Given the description of an element on the screen output the (x, y) to click on. 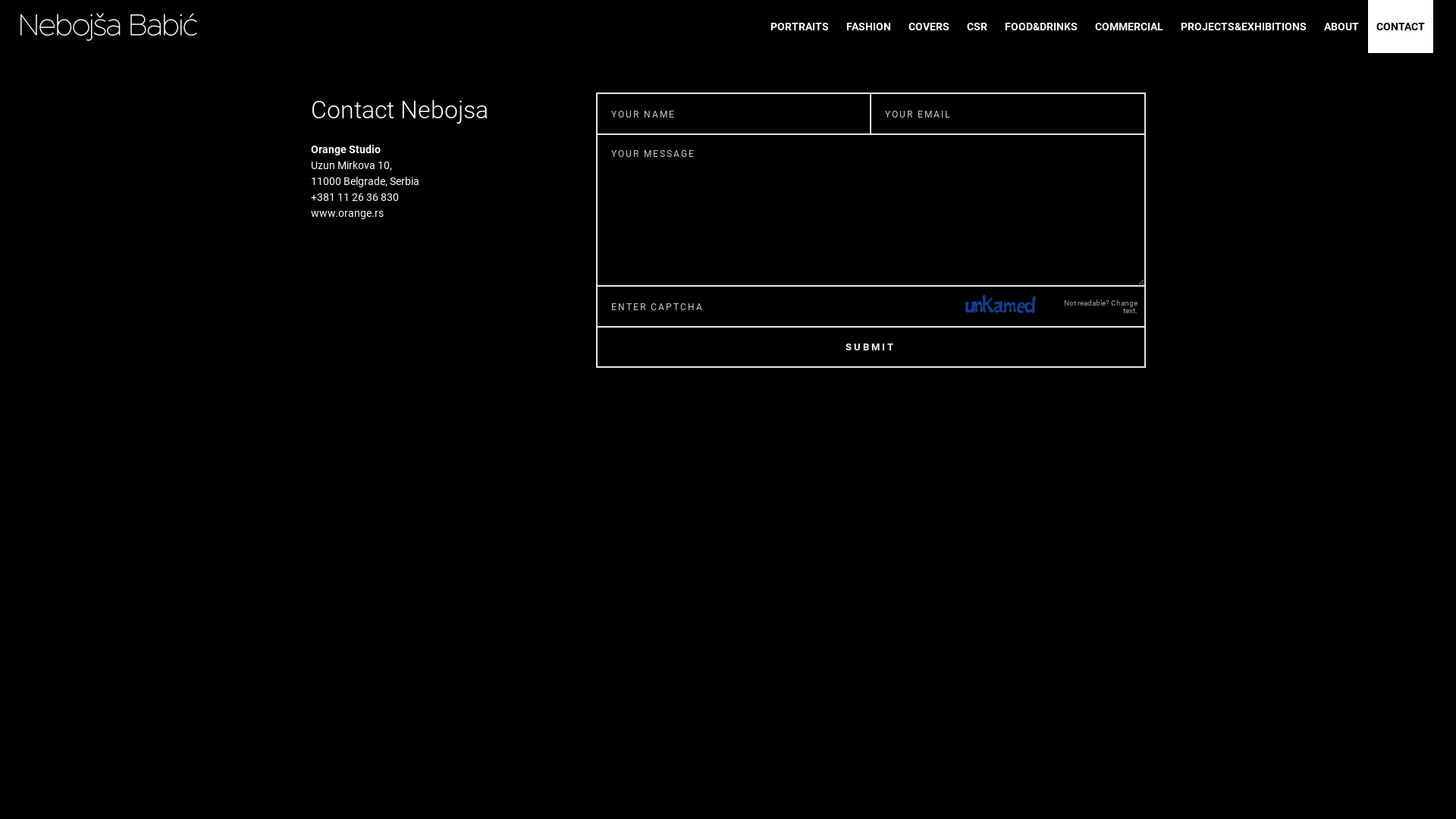
COVERS Element type: text (928, 26)
FASHION Element type: text (868, 26)
Official web site Element type: hover (107, 26)
www.orange.rs Element type: text (346, 213)
SUBMIT Element type: text (870, 346)
PROJECTS&EXHIBITIONS Element type: text (1243, 26)
ABOUT Element type: text (1341, 26)
PORTRAITS Element type: text (799, 26)
Not readable? Change text. Element type: text (1099, 306)
COMMERCIAL Element type: text (1128, 26)
CSR Element type: text (976, 26)
CONTACT Element type: text (1400, 26)
FOOD&DRINKS Element type: text (1040, 26)
